Given the description of an element on the screen output the (x, y) to click on. 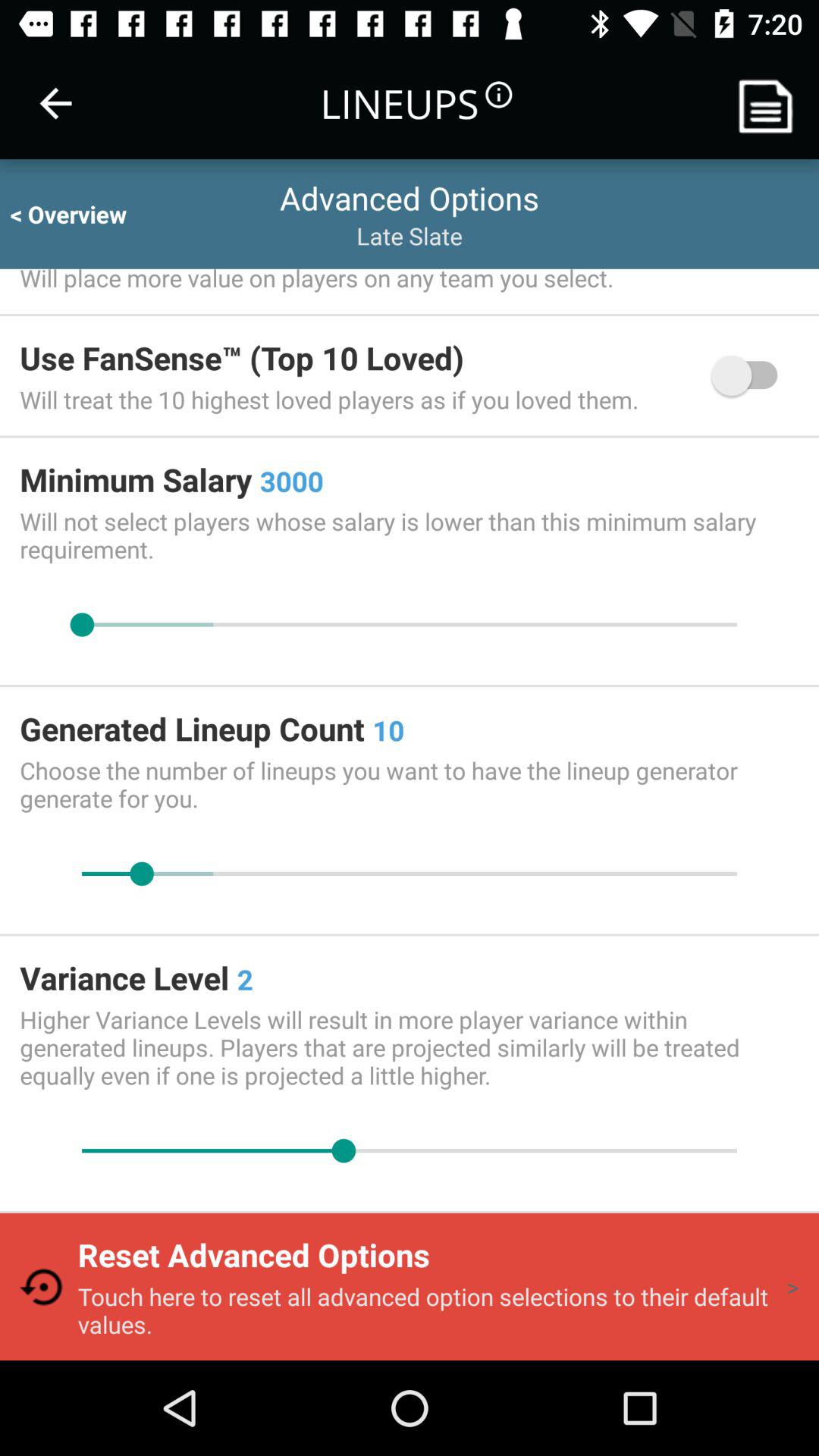
open icon next to the lineups item (55, 103)
